Given the description of an element on the screen output the (x, y) to click on. 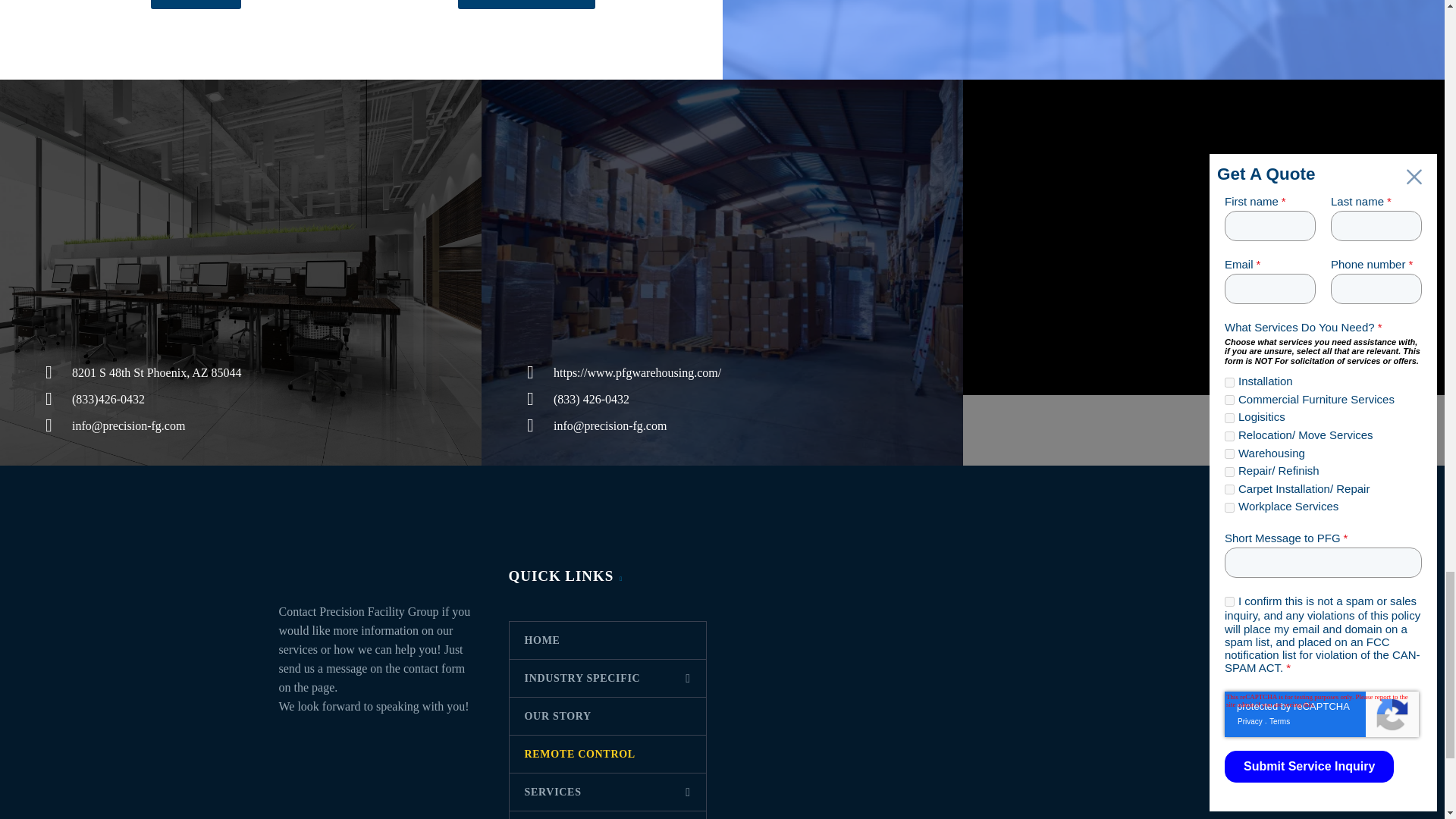
BLOG (607, 815)
Visit Us on LinkedIn (526, 4)
Contact Us (194, 4)
SERVICES (607, 791)
OUR STORY (607, 715)
REMOTE CONTROL (607, 754)
HOME (607, 640)
Form 0 (1083, 39)
speaking with you (419, 706)
INDUSTRY SPECIFIC (607, 678)
